Given the description of an element on the screen output the (x, y) to click on. 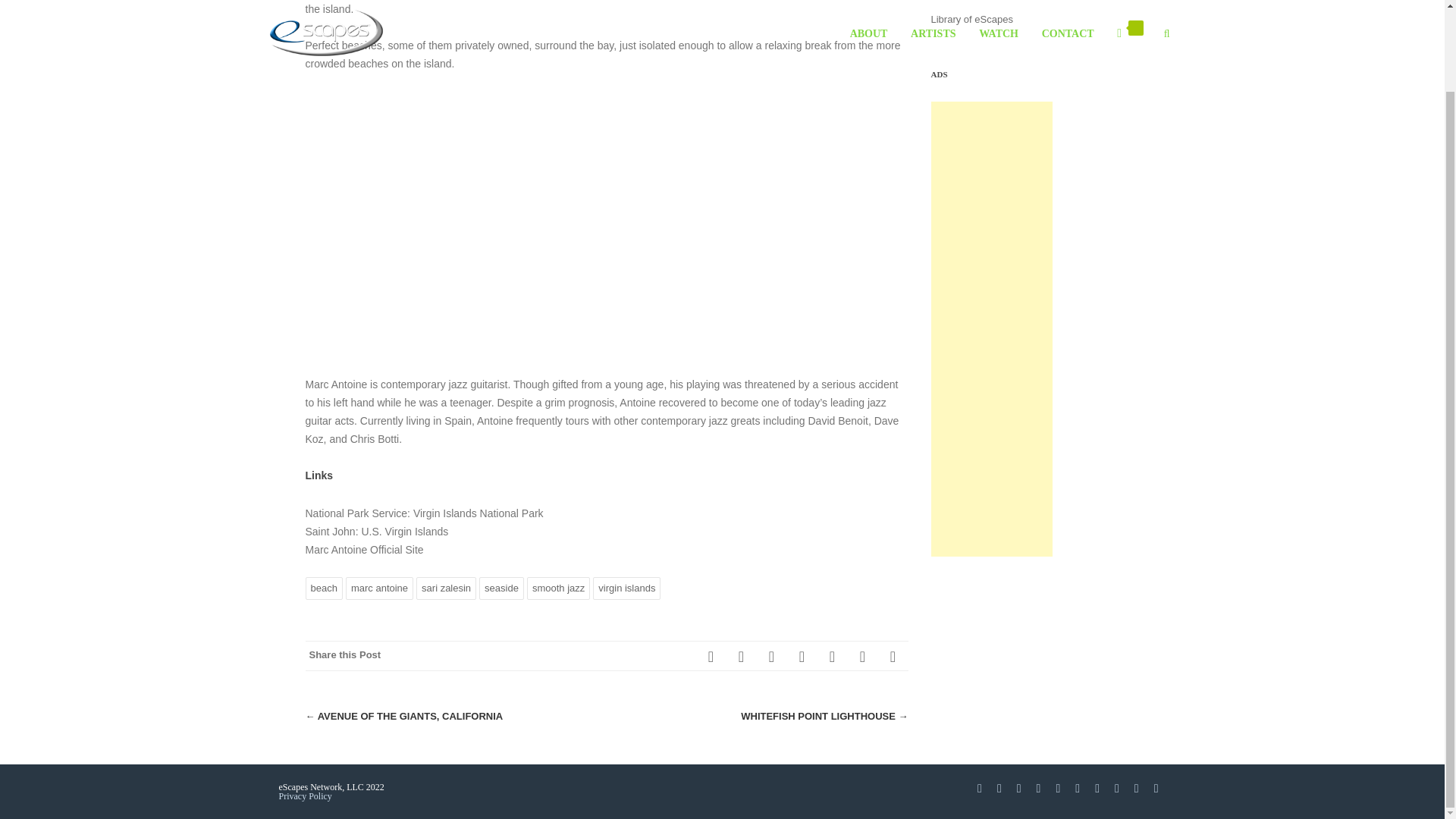
Twitter (741, 655)
Facebook (710, 655)
beach (323, 588)
sari zalesin (446, 588)
marc antoine (379, 588)
seaside (501, 588)
LinkedIn (831, 655)
smooth jazz (558, 588)
virgin islands (626, 588)
Marc Antoine Official Site (363, 549)
